Given the description of an element on the screen output the (x, y) to click on. 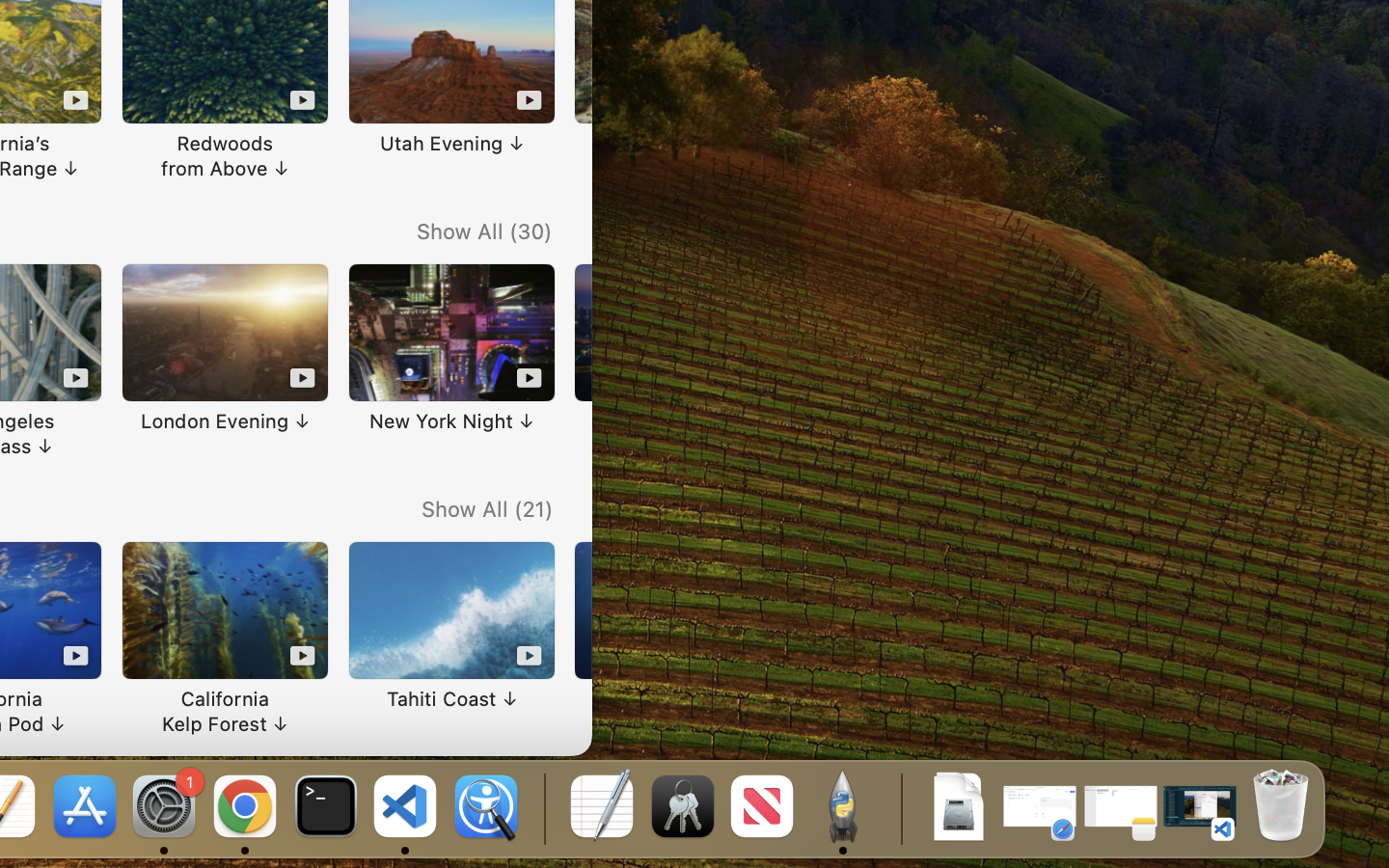
0.4285714328289032 Element type: AXDockItem (541, 807)
